Given the description of an element on the screen output the (x, y) to click on. 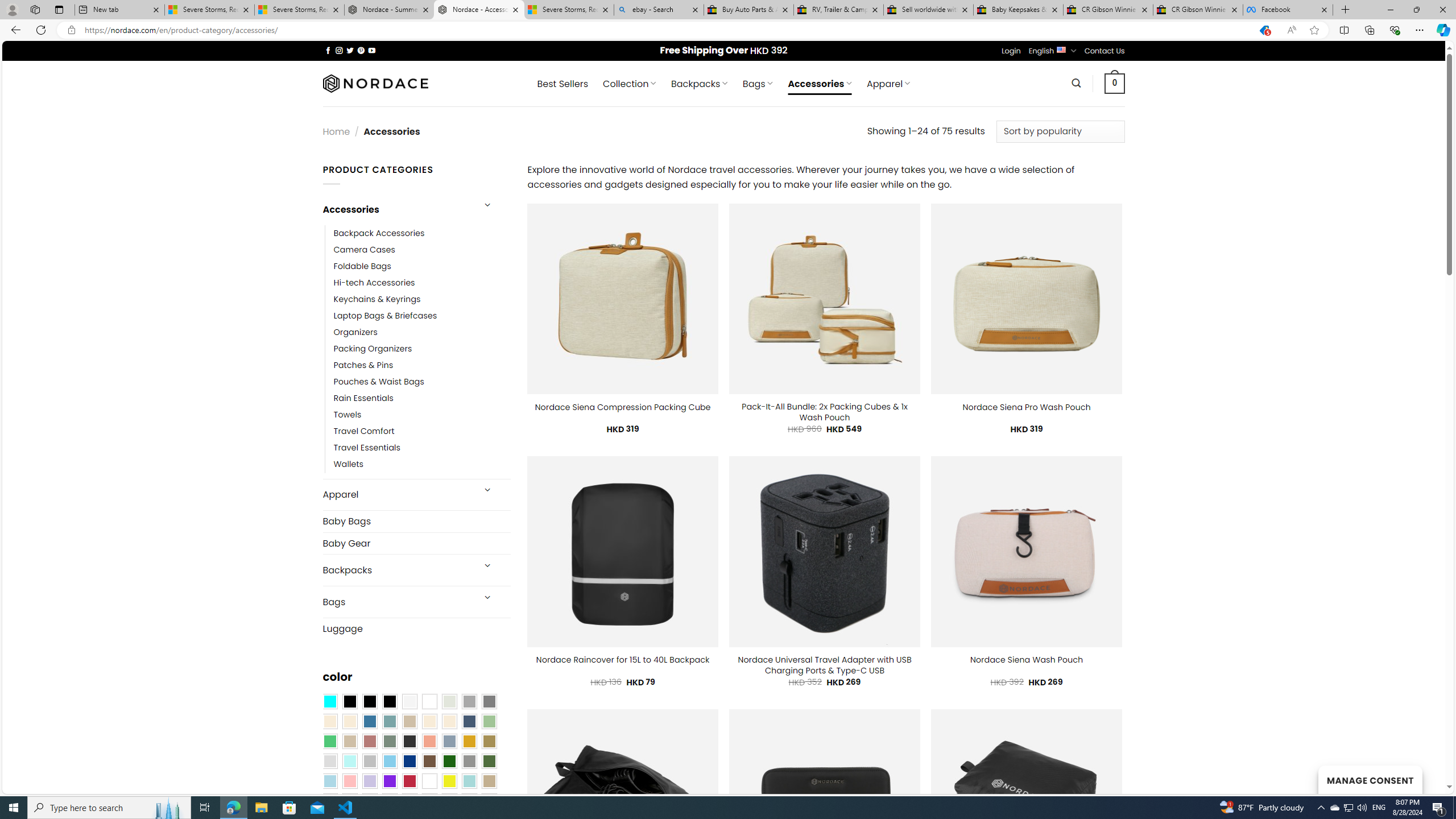
 0  (1115, 83)
Sage (389, 741)
Pink (349, 780)
Follow on Instagram (338, 49)
Rose (369, 741)
Ash Gray (449, 701)
Kelp (488, 741)
Contact Us (1104, 50)
Beige (329, 721)
All Black (349, 701)
